Given the description of an element on the screen output the (x, y) to click on. 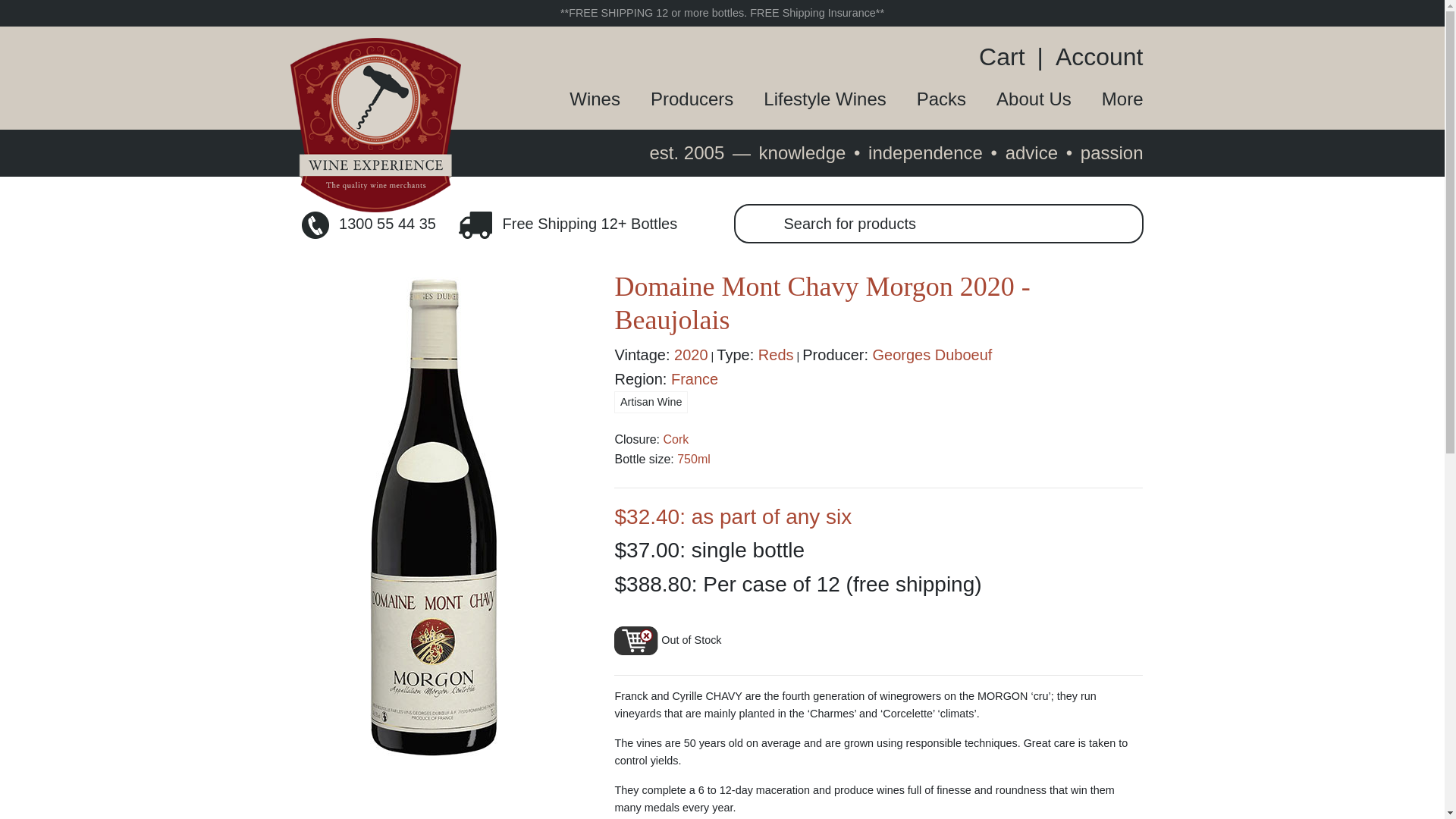
Cart (1007, 56)
Wines (579, 98)
Account (1092, 56)
